Given the description of an element on the screen output the (x, y) to click on. 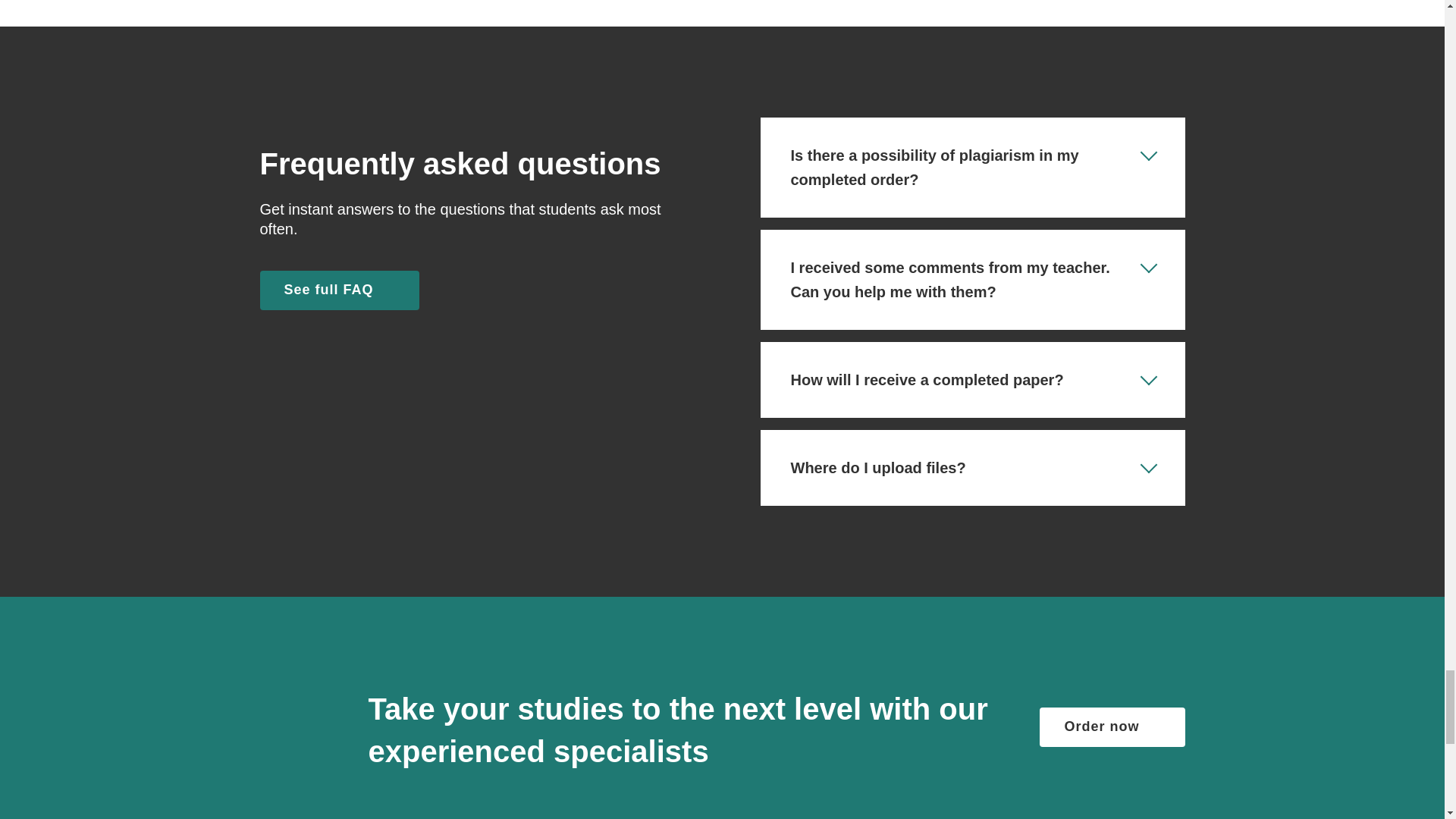
Order now (1112, 726)
See full FAQ (339, 290)
